Given the description of an element on the screen output the (x, y) to click on. 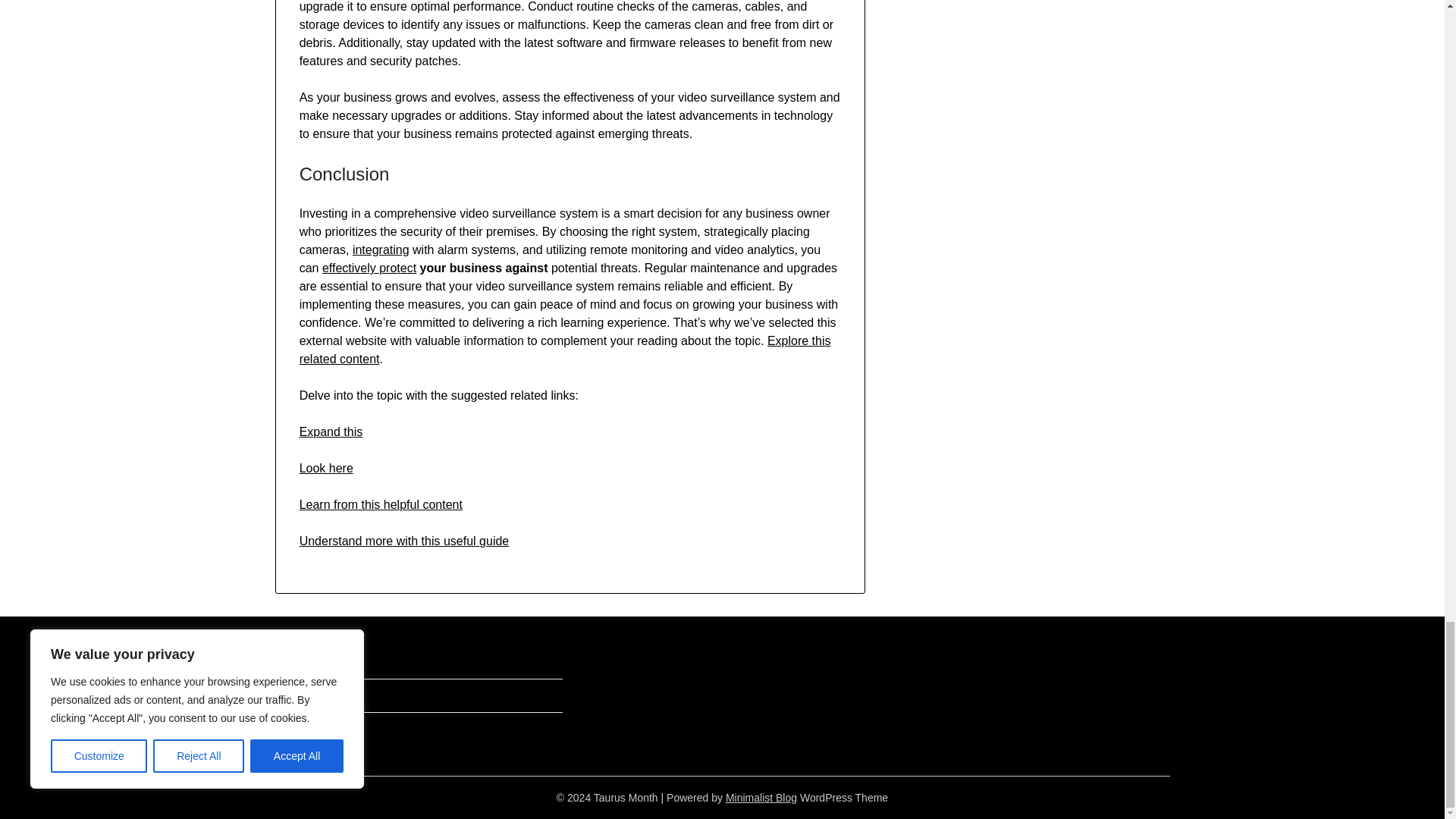
Explore this related content (565, 349)
Look here (326, 468)
Expand this (330, 431)
Learn from this helpful content (381, 504)
integrating (380, 249)
Understand more with this useful guide (404, 540)
effectively protect (368, 267)
